Given the description of an element on the screen output the (x, y) to click on. 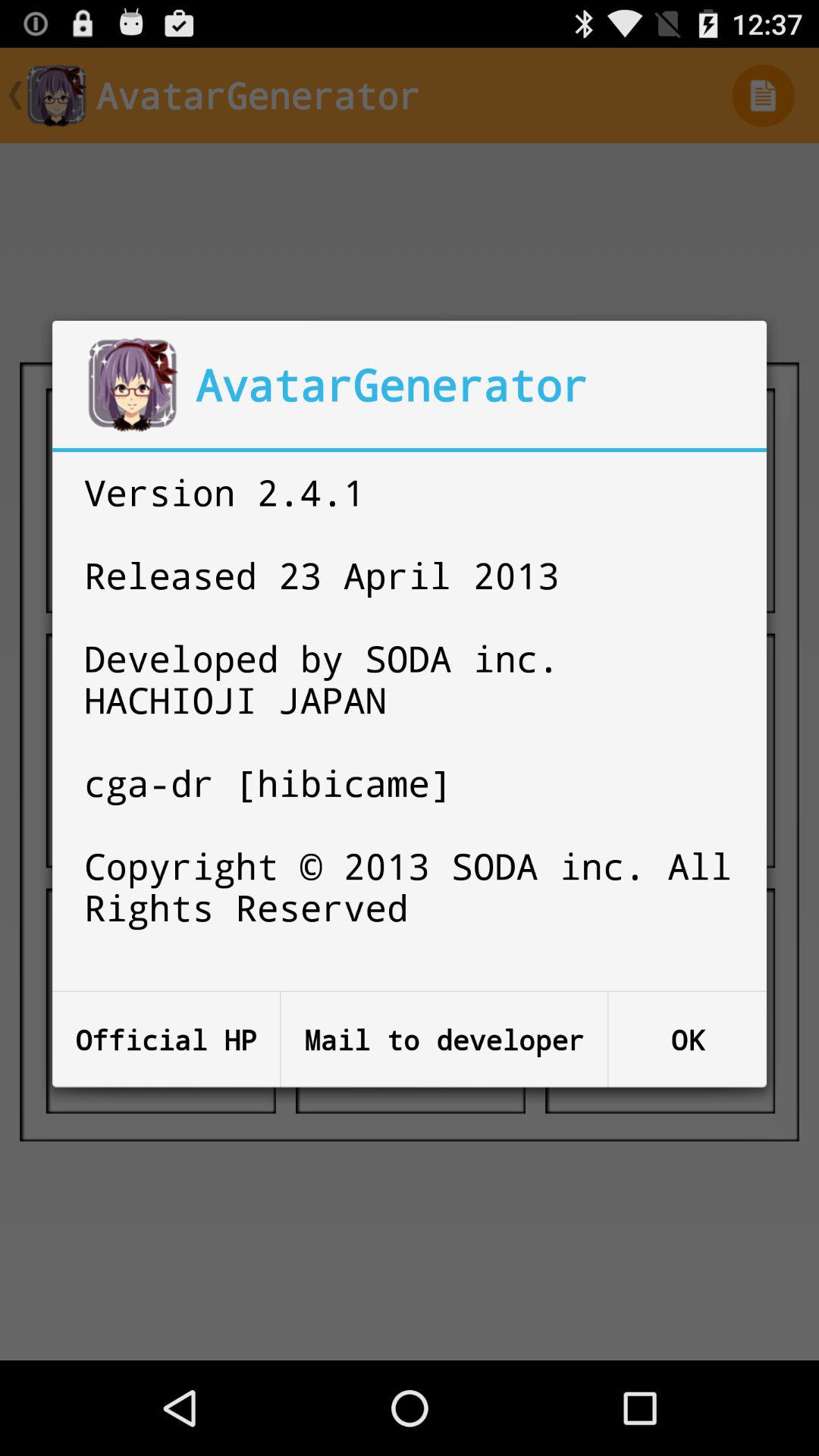
press the item to the left of the ok (443, 1039)
